Given the description of an element on the screen output the (x, y) to click on. 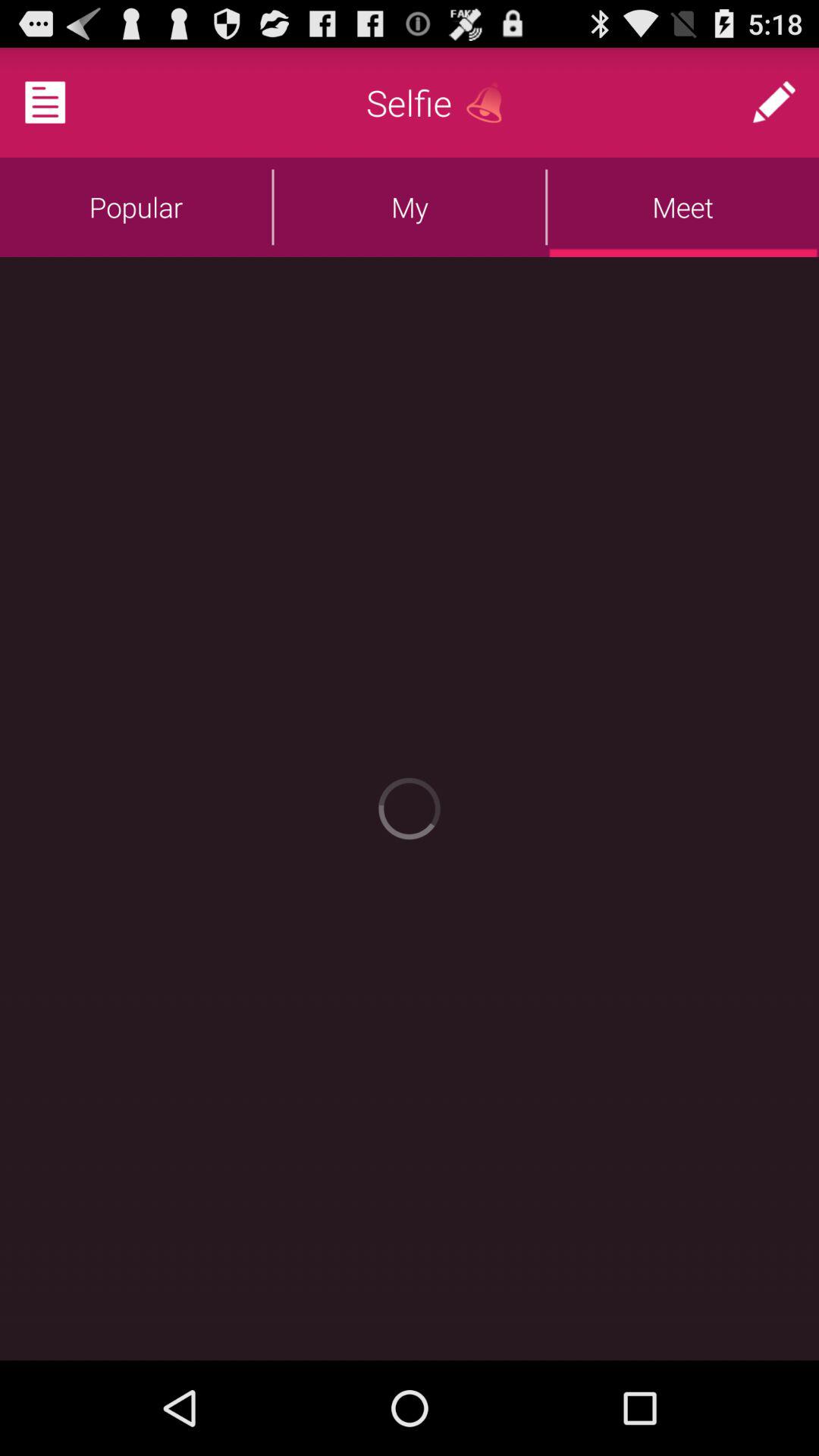
go to notifications (63, 102)
